Given the description of an element on the screen output the (x, y) to click on. 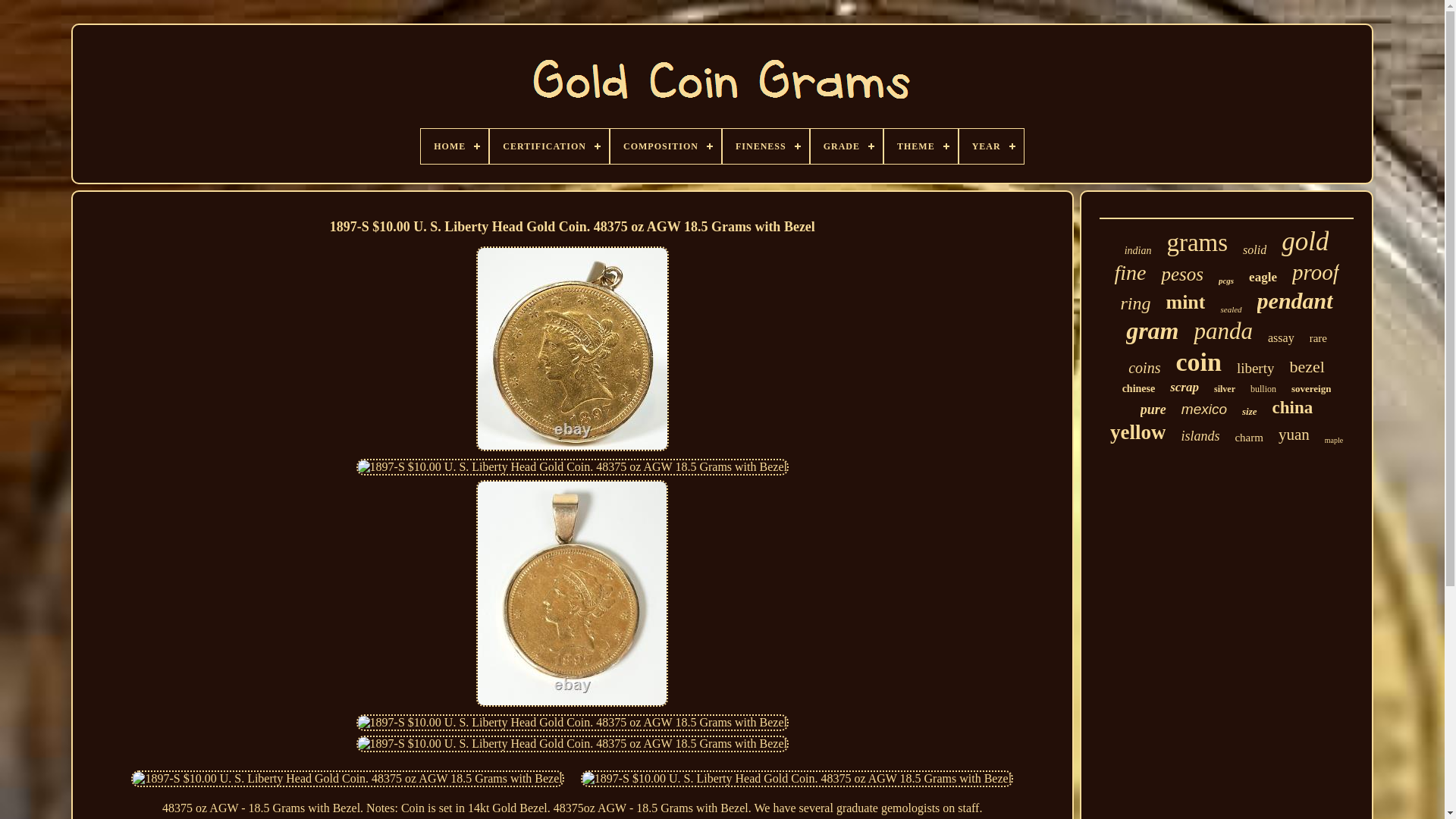
COMPOSITION (665, 145)
FINENESS (765, 145)
HOME (453, 145)
CERTIFICATION (548, 145)
